Given the description of an element on the screen output the (x, y) to click on. 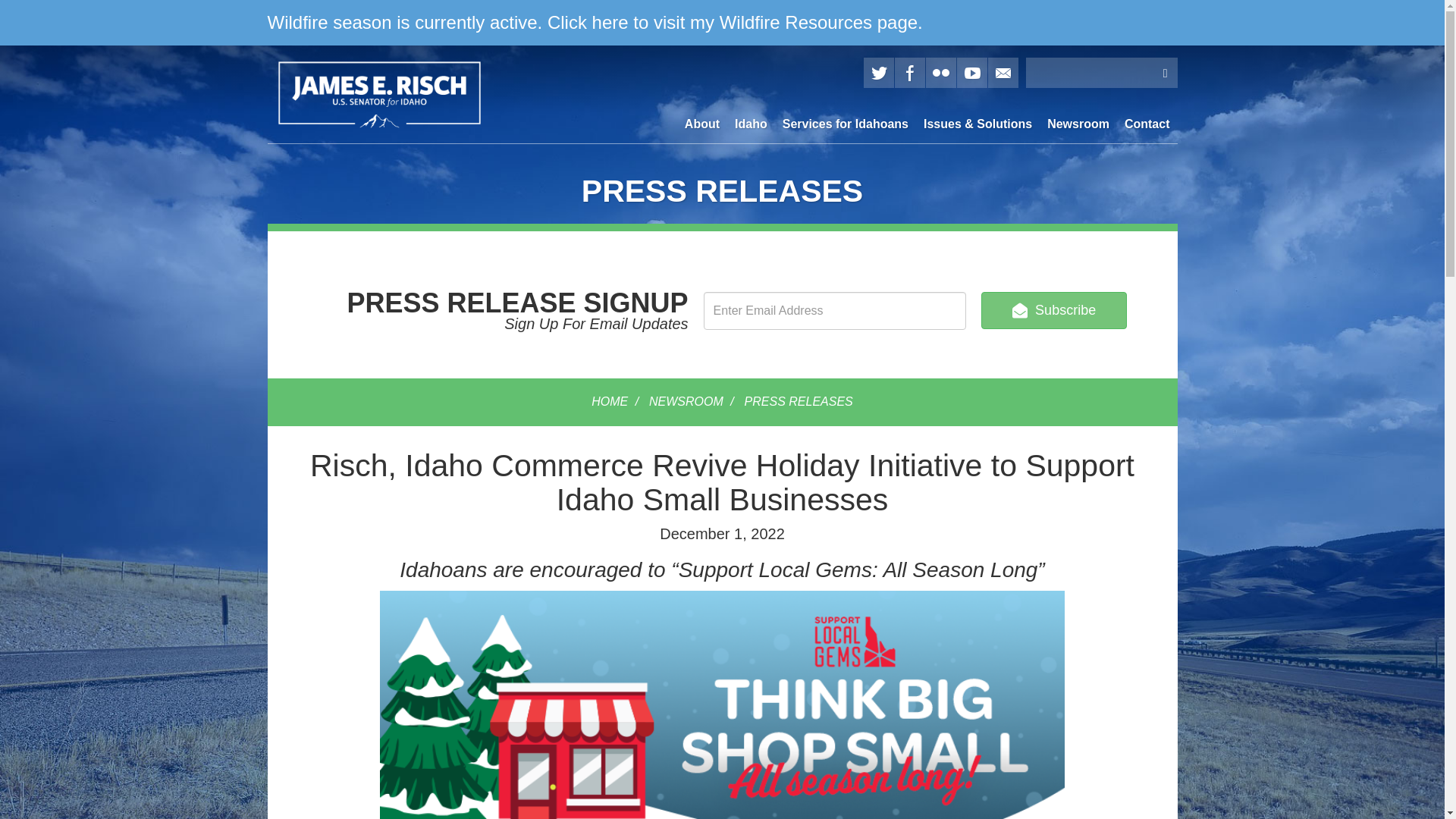
Facebook (909, 72)
Idaho (750, 124)
Subscribe (1053, 310)
Twitter (878, 72)
Flickr (939, 72)
About (701, 124)
E-mail (1002, 72)
Services for Idahoans (844, 124)
YouTube (971, 72)
